Given the description of an element on the screen output the (x, y) to click on. 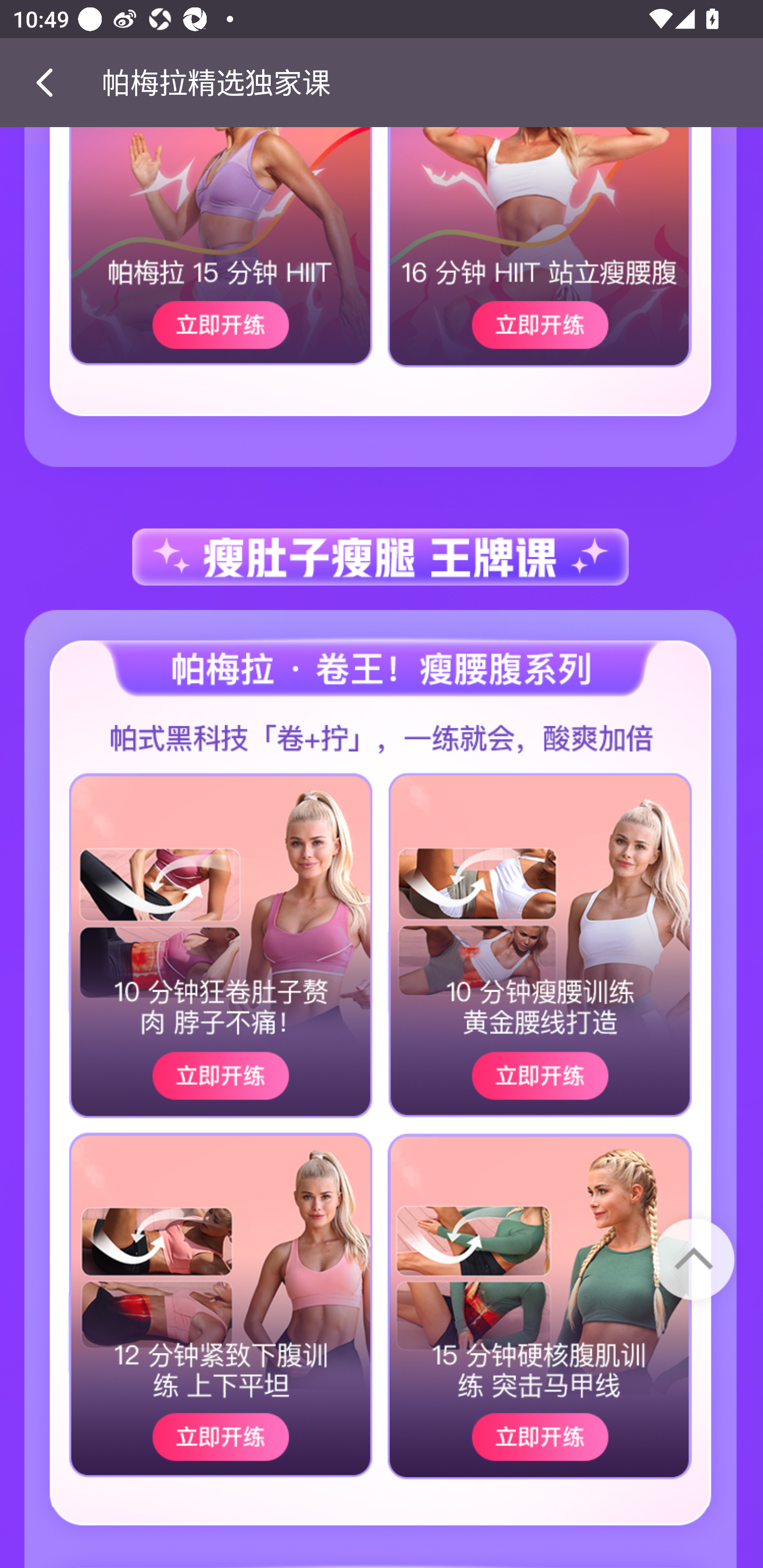
Left Button In Title Bar (50, 82)
